Given the description of an element on the screen output the (x, y) to click on. 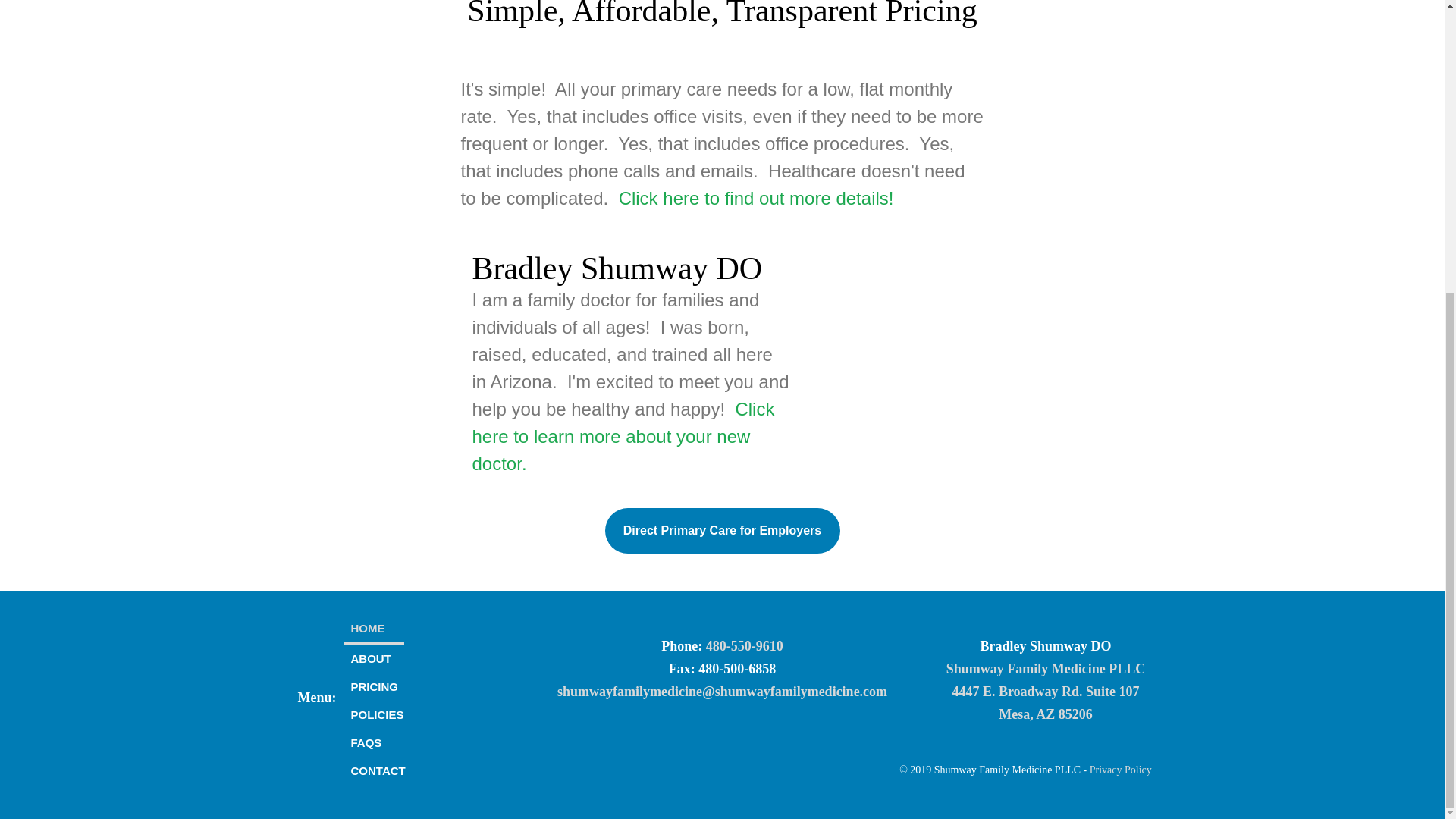
POLICIES (372, 714)
Shumway Family Medicine PLLC (1045, 668)
Privacy Policy (1120, 769)
HOME (372, 629)
4447 E. Broadway Rd. Suite 107 (1045, 691)
Direct Primary Care for Employers (722, 530)
PRICING (372, 686)
Mesa, AZ 85206 (1045, 713)
Click here to learn more about your new doctor. (622, 436)
CONTACT (372, 770)
